Given the description of an element on the screen output the (x, y) to click on. 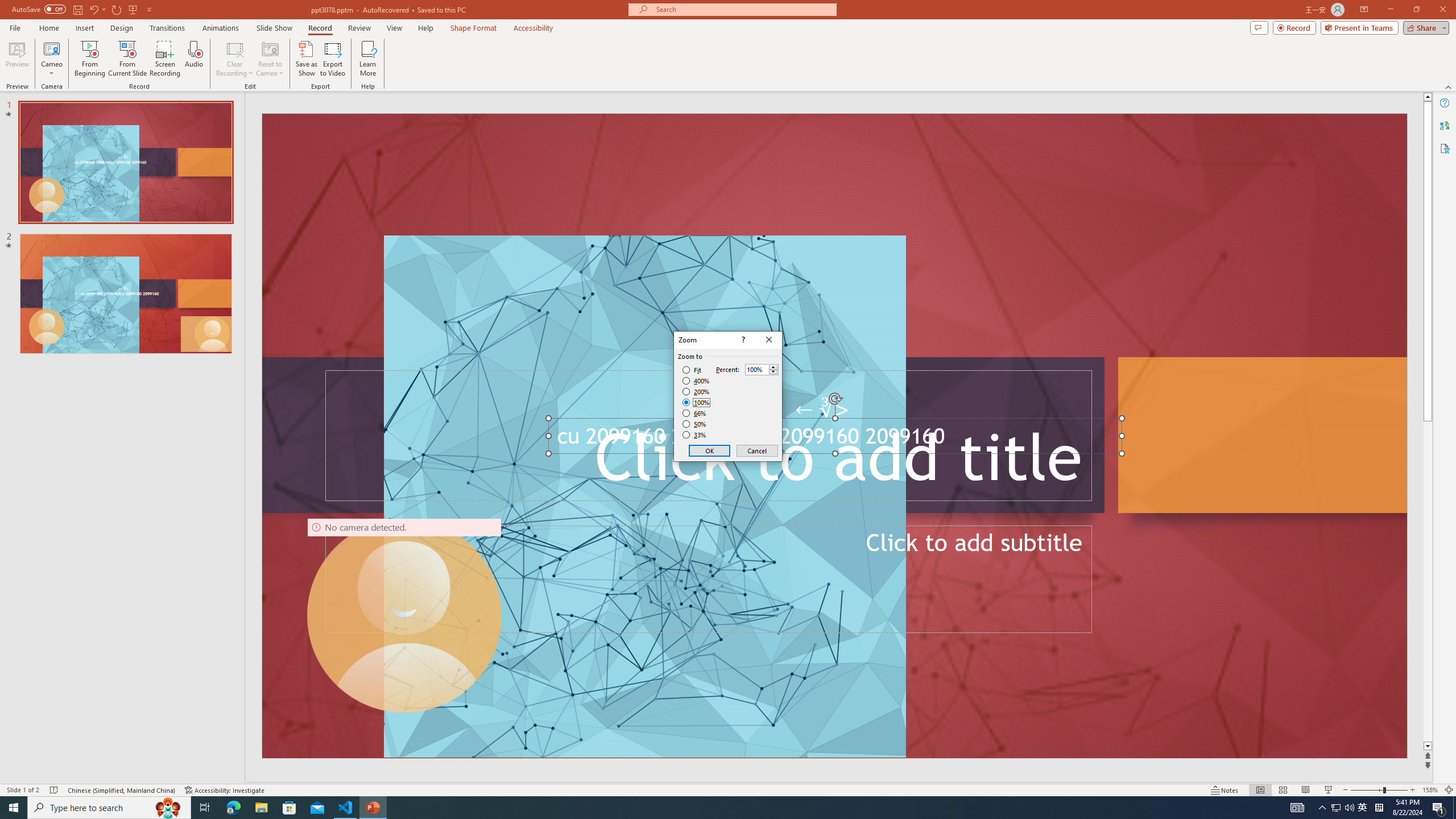
200% (696, 391)
66% (694, 412)
